Given the description of an element on the screen output the (x, y) to click on. 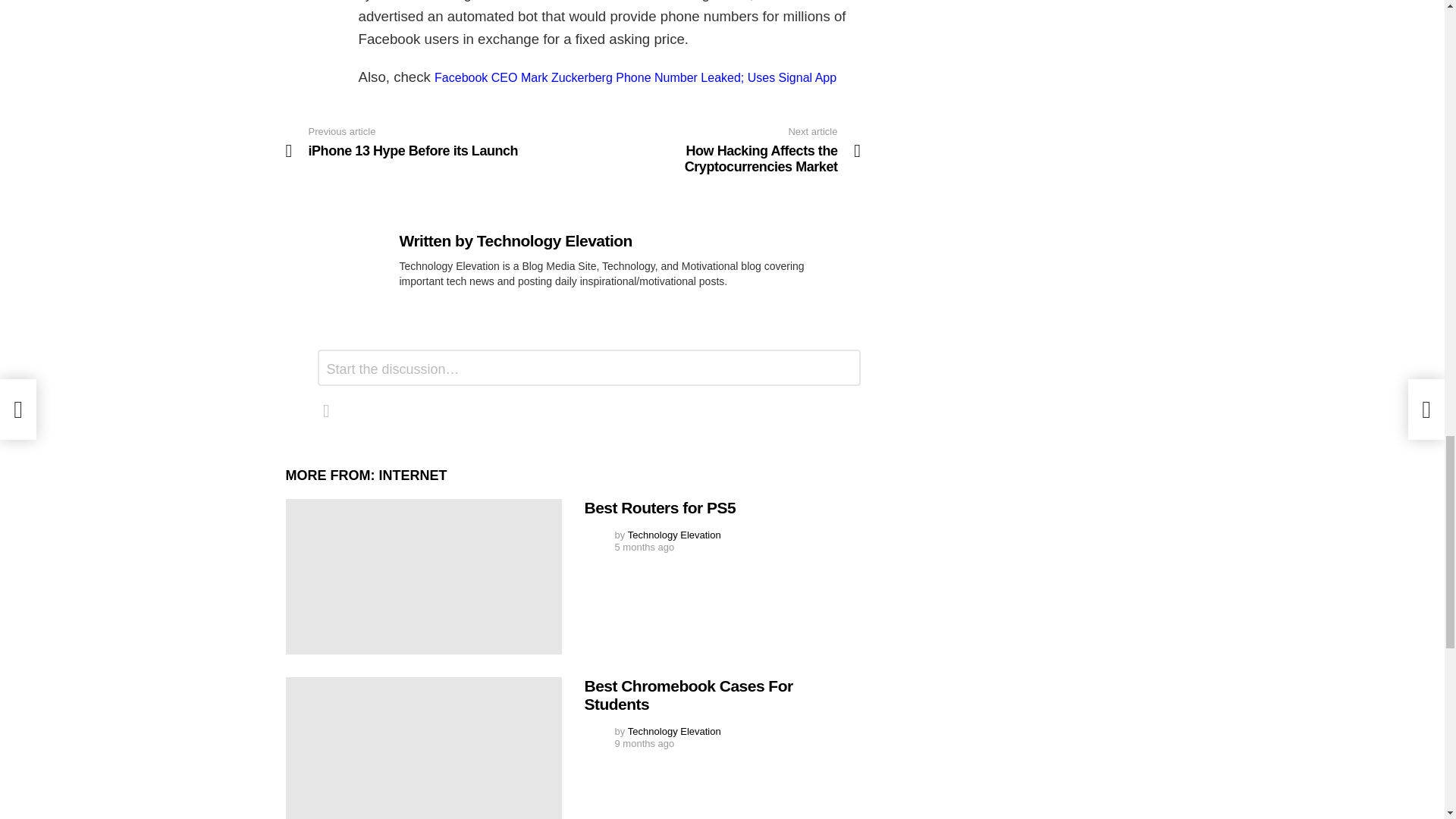
Best Routers for PS5 (422, 576)
Technology Elevation (554, 240)
Reply with GIF (325, 411)
October 30, 2023, 6:36 pm (644, 743)
Posts by Technology Elevation (673, 731)
February 28, 2024, 10:04 pm (644, 547)
REPLY WITH GIF (325, 411)
Posts by Technology Elevation (673, 534)
Best Chromebook Cases For Students (716, 151)
